Given the description of an element on the screen output the (x, y) to click on. 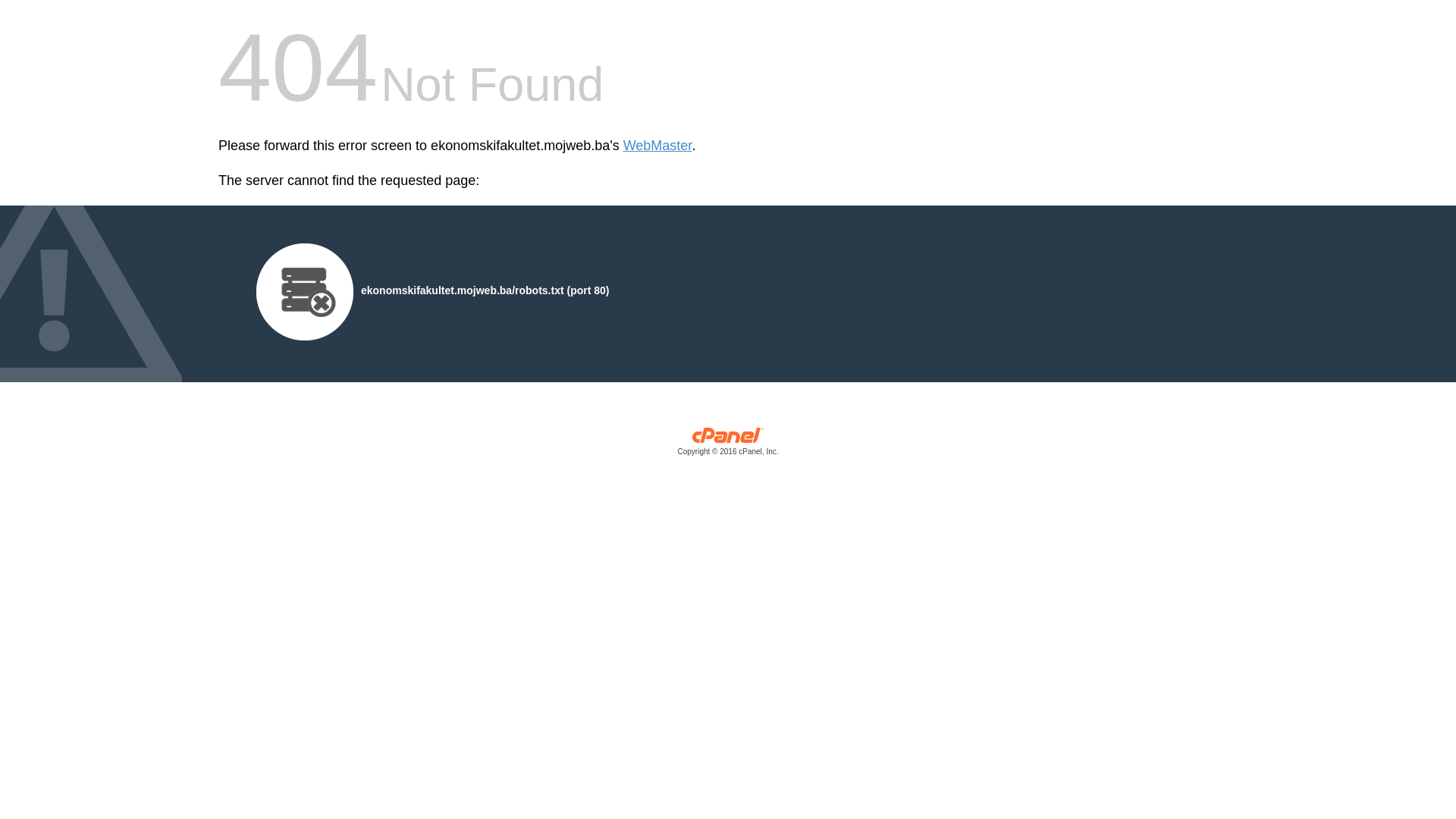
WebMaster Element type: text (657, 145)
